Given the description of an element on the screen output the (x, y) to click on. 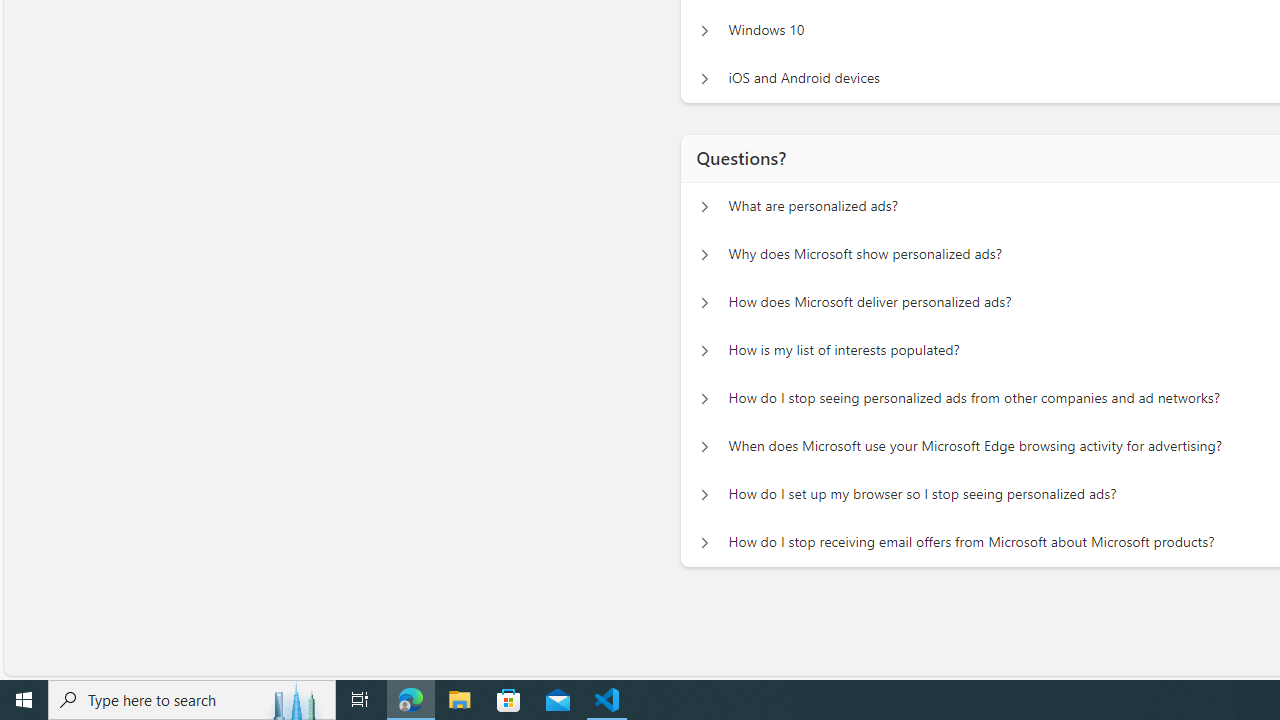
Questions? What are personalized ads? (704, 206)
Manage personalized ads on your device Windows 10 (704, 30)
Questions? How does Microsoft deliver personalized ads? (704, 302)
Questions? How is my list of interests populated? (704, 350)
Questions? Why does Microsoft show personalized ads? (704, 255)
